Given the description of an element on the screen output the (x, y) to click on. 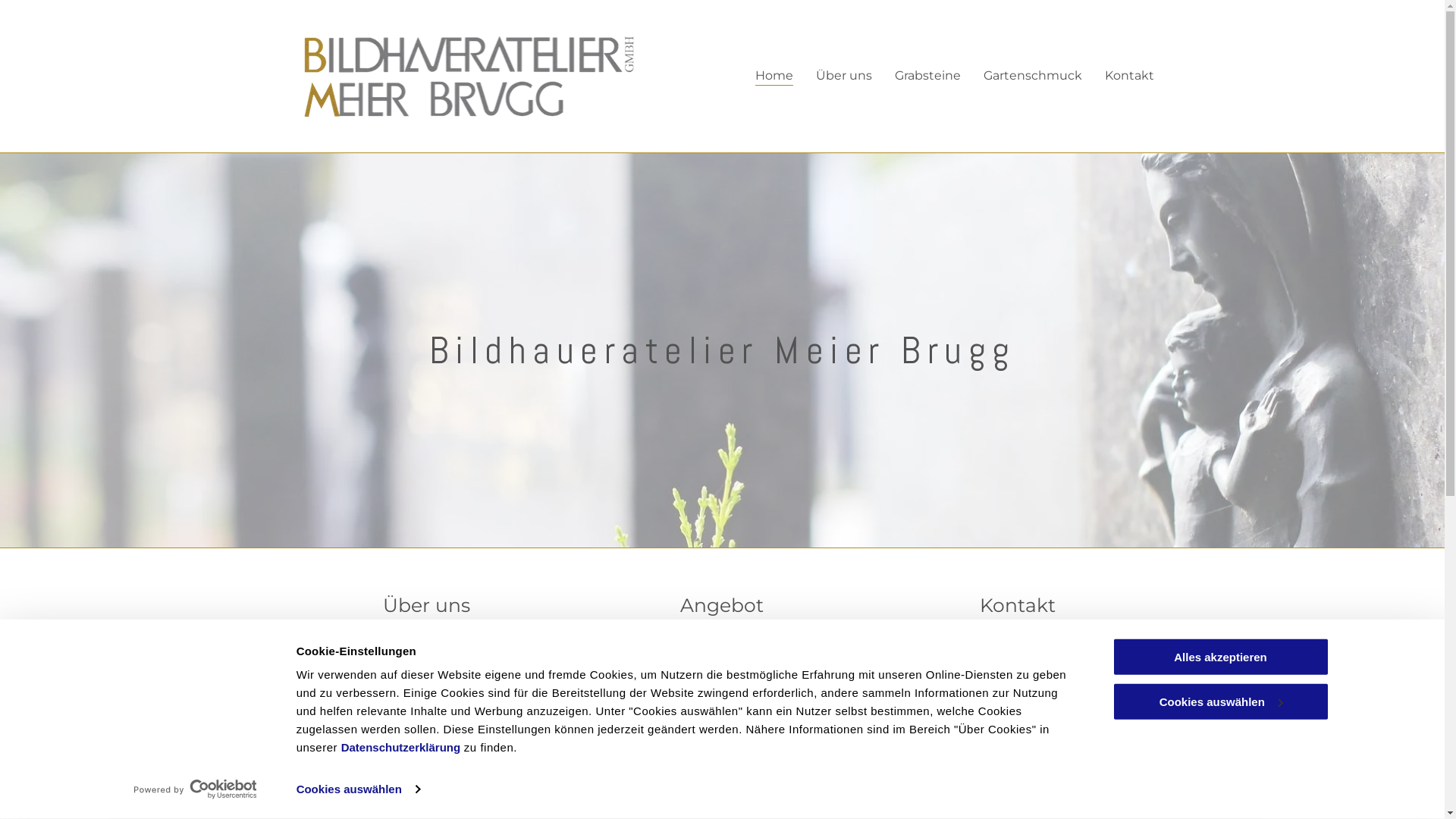
Gartenschmuck Element type: text (1032, 74)
Kontakt Element type: text (1017, 741)
Grabsteine Element type: text (927, 74)
Home Element type: text (774, 74)
Kontakt Element type: text (1129, 74)
Angebot Element type: text (721, 741)
Alles akzeptieren Element type: text (1219, 656)
